Given the description of an element on the screen output the (x, y) to click on. 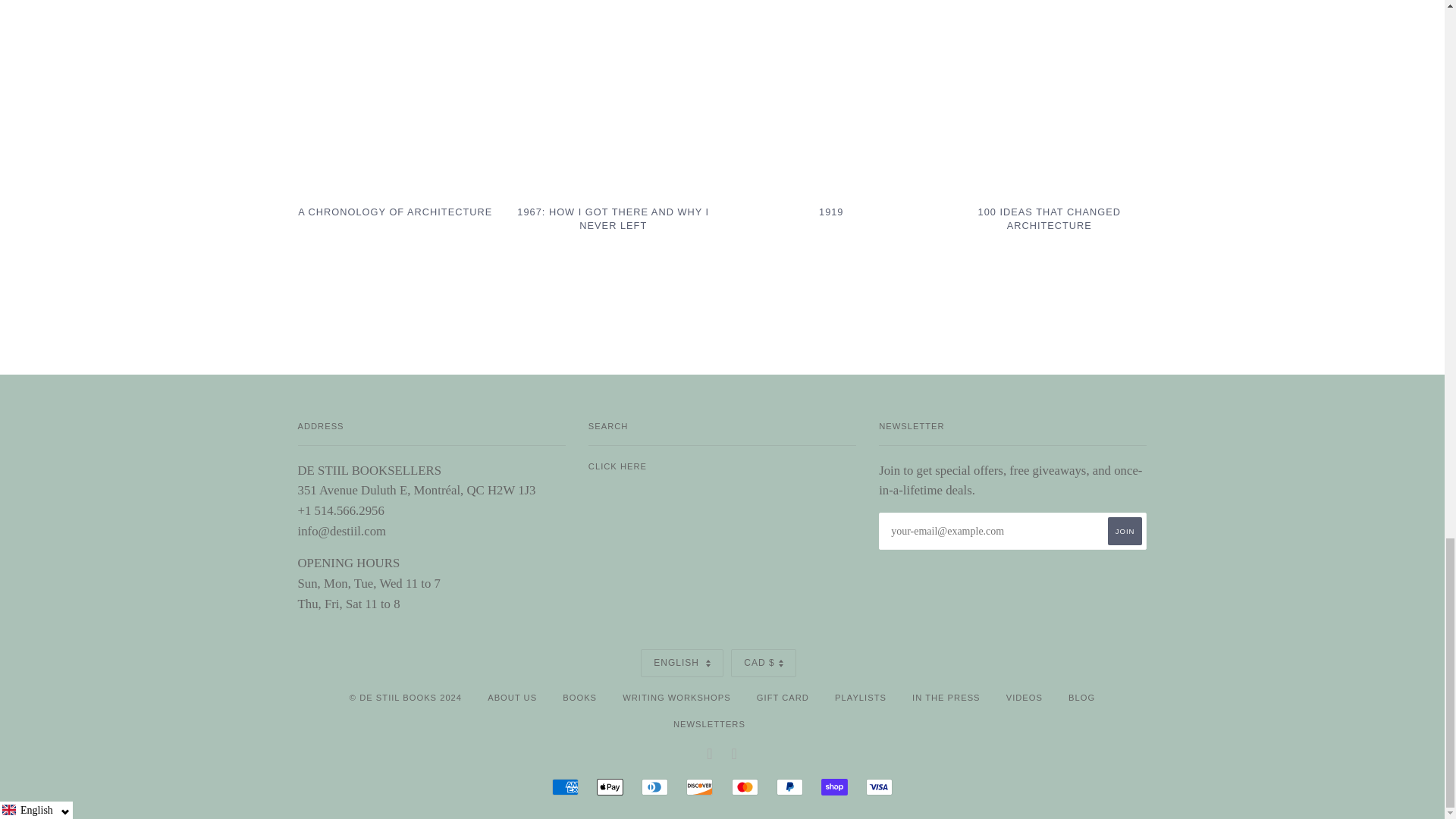
APPLE PAY (609, 786)
VISA (879, 786)
PAYPAL (789, 786)
SHOP PAY (834, 786)
AMERICAN EXPRESS (564, 786)
Join (1125, 530)
DISCOVER (699, 786)
MASTERCARD (745, 786)
DINERS CLUB (655, 786)
